Given the description of an element on the screen output the (x, y) to click on. 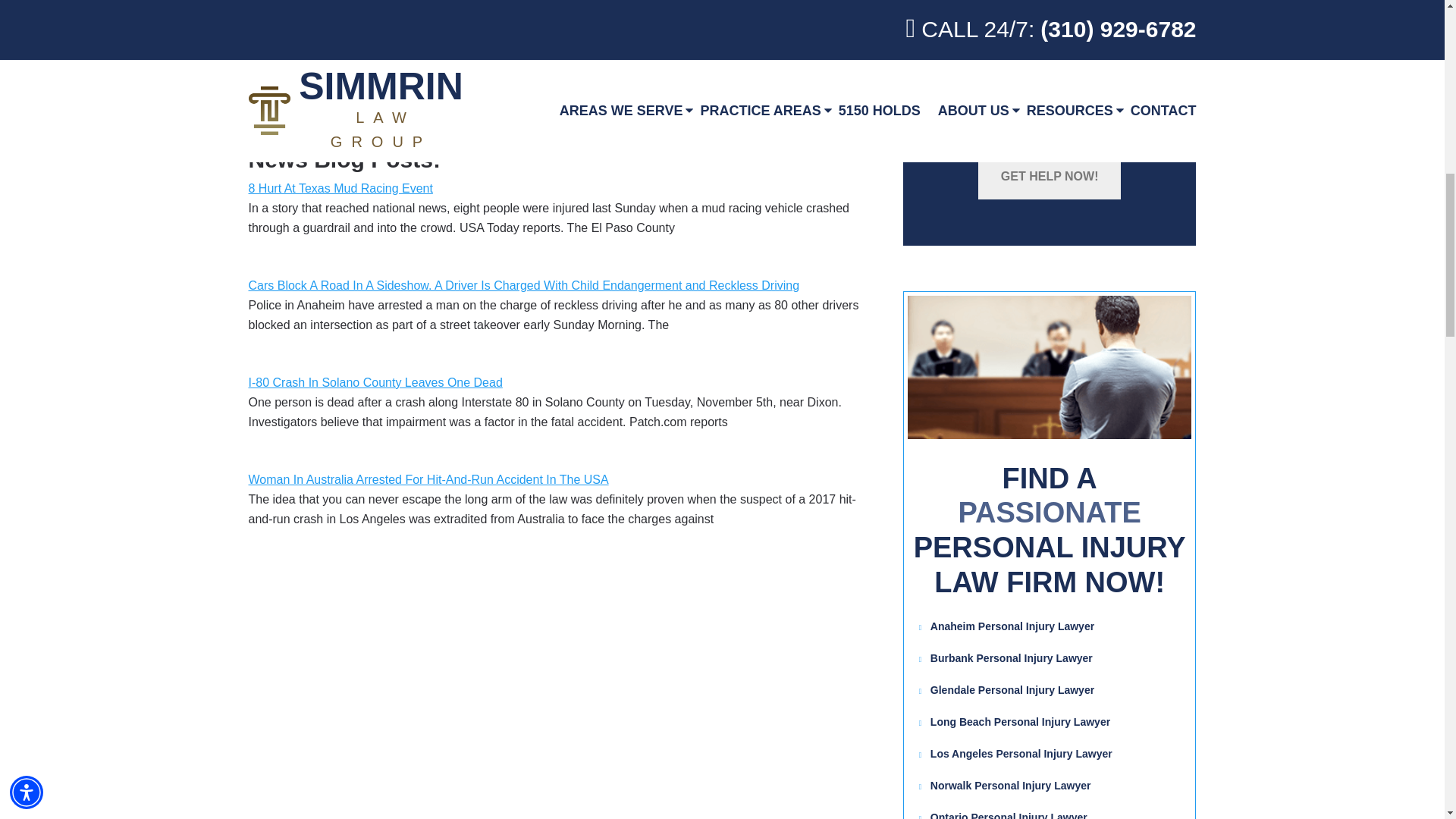
Get Help Now! (1049, 176)
